Given the description of an element on the screen output the (x, y) to click on. 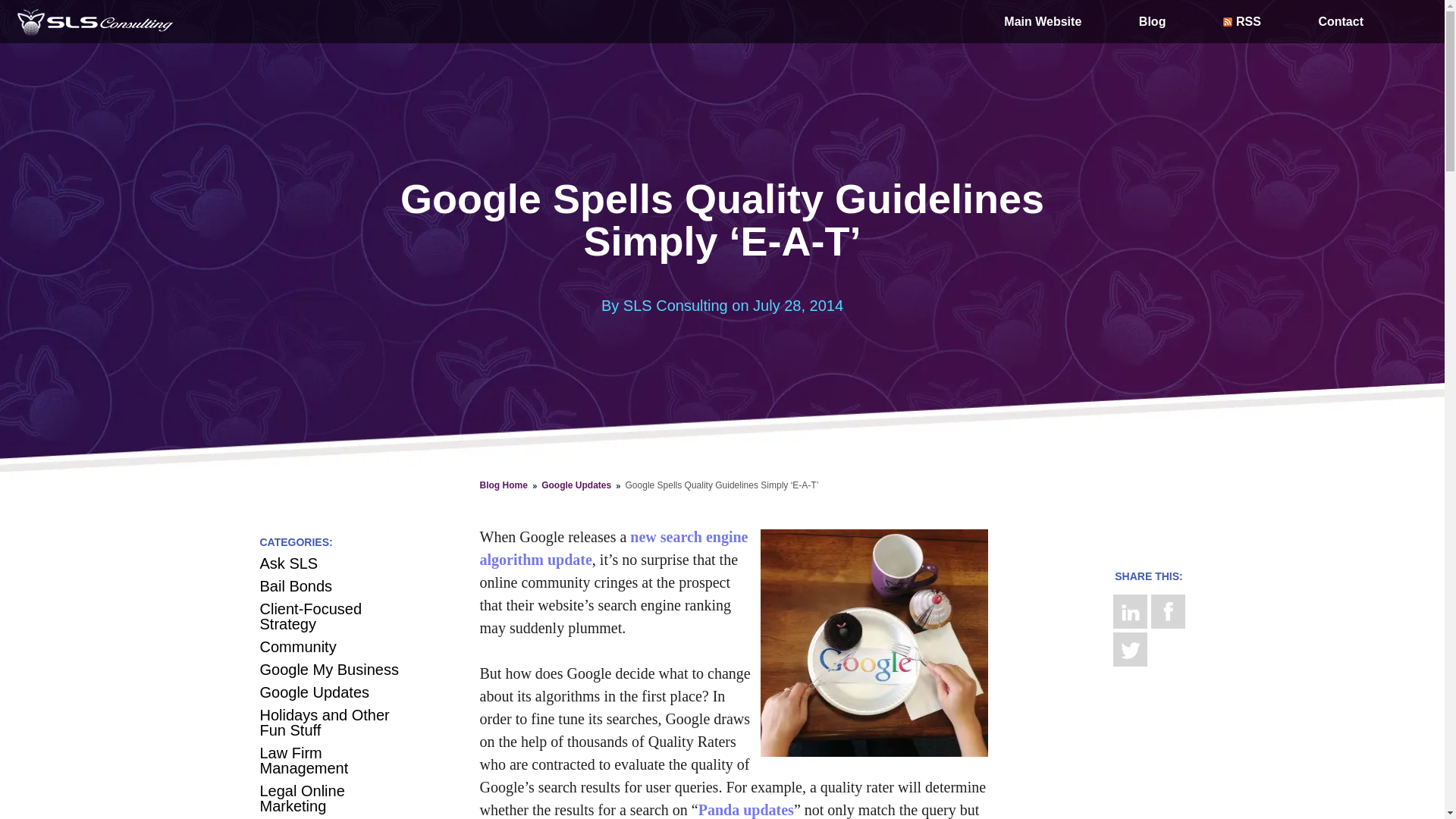
Client-Focused Strategy (310, 616)
Law Firm Management (303, 760)
LinkedIn (1130, 611)
Google My Business (328, 669)
new search engine algorithm update (613, 548)
RSS (1241, 21)
Google Updates (580, 484)
SLS Consulting, Inc. (95, 21)
twitter (1130, 649)
Holidays and Other Fun Stuff (323, 722)
Blog (1152, 21)
E-A-T Google Quality Guidelines (873, 642)
Facebook (1168, 611)
Community (297, 646)
Google Updates (314, 692)
